Given the description of an element on the screen output the (x, y) to click on. 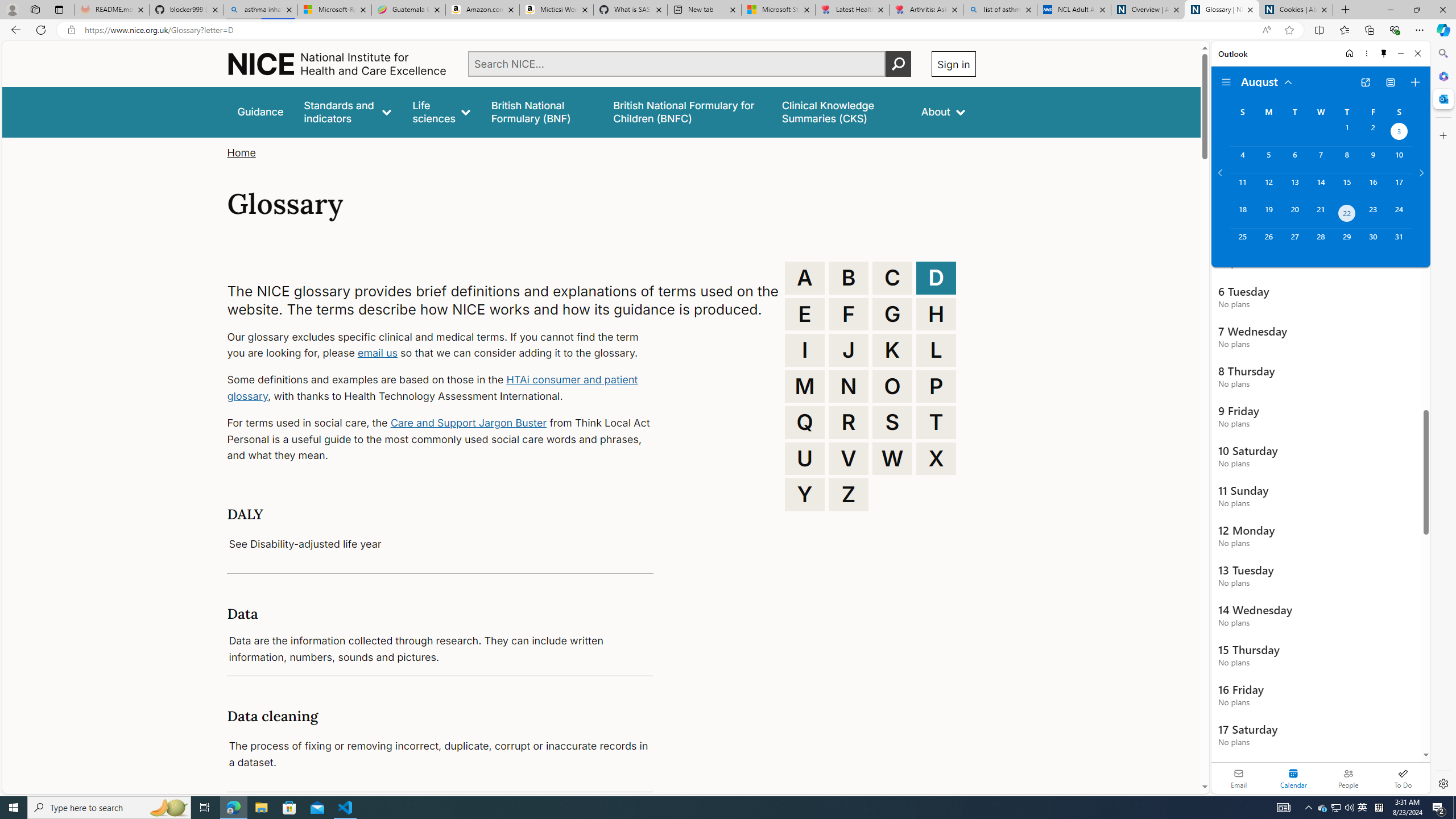
C (892, 277)
NCL Adult Asthma Inhaler Choice Guideline (1073, 9)
Close Outlook pane (1442, 98)
N (848, 385)
Thursday, August 15, 2024.  (1346, 186)
New Tab (1346, 9)
P (935, 385)
false (841, 111)
Sunday, August 4, 2024.  (1242, 159)
V (848, 458)
F (848, 313)
Personal Profile (12, 9)
